Given the description of an element on the screen output the (x, y) to click on. 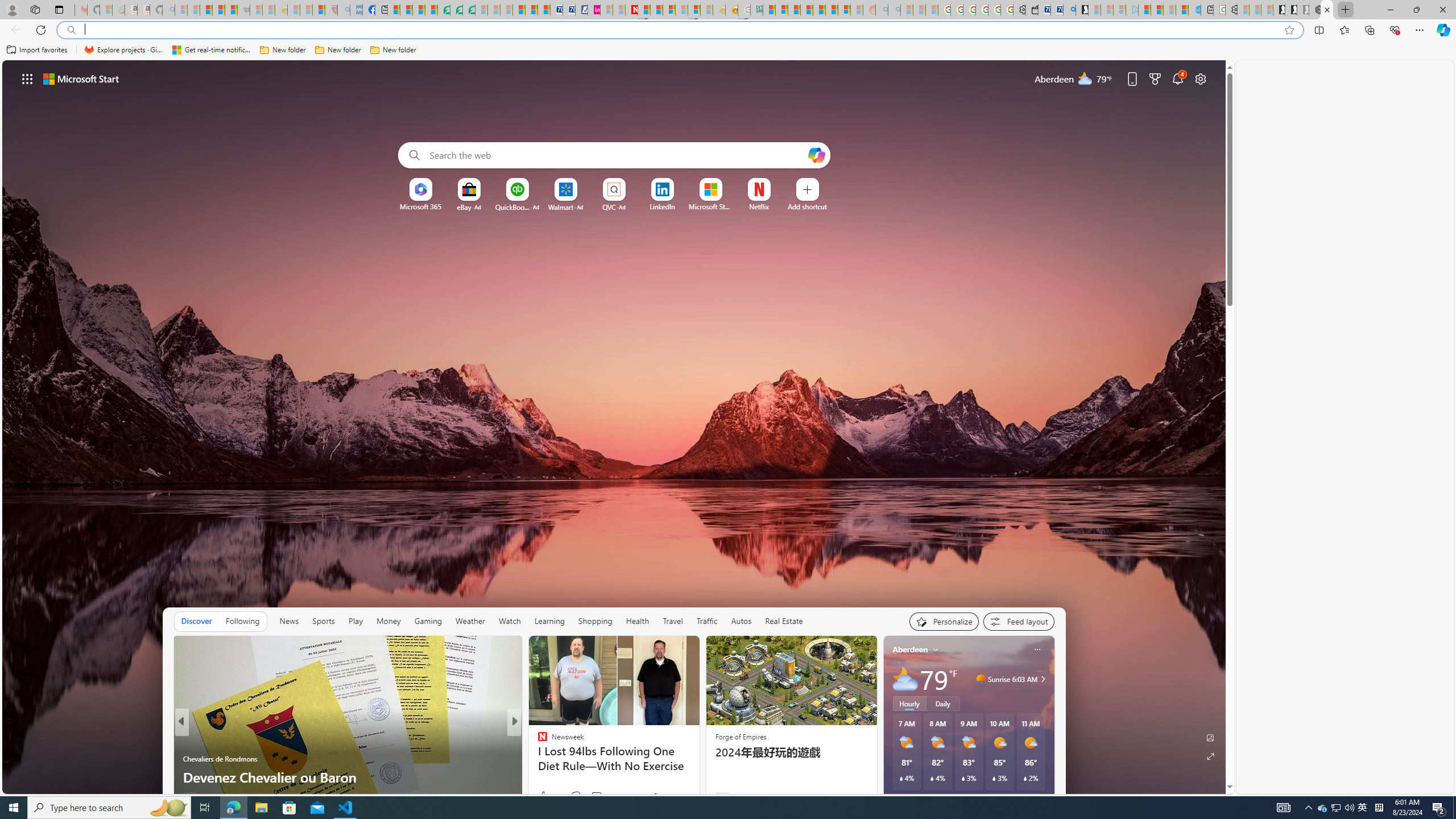
Health (637, 621)
108 Like (545, 796)
Morning Carpool (537, 740)
More options (1037, 649)
How Much Protein You Need To Eat Every Day To Build Muscle (697, 767)
ETNT Mind+Body (537, 740)
Health (637, 621)
View comments 95 Comment (601, 795)
